Given the description of an element on the screen output the (x, y) to click on. 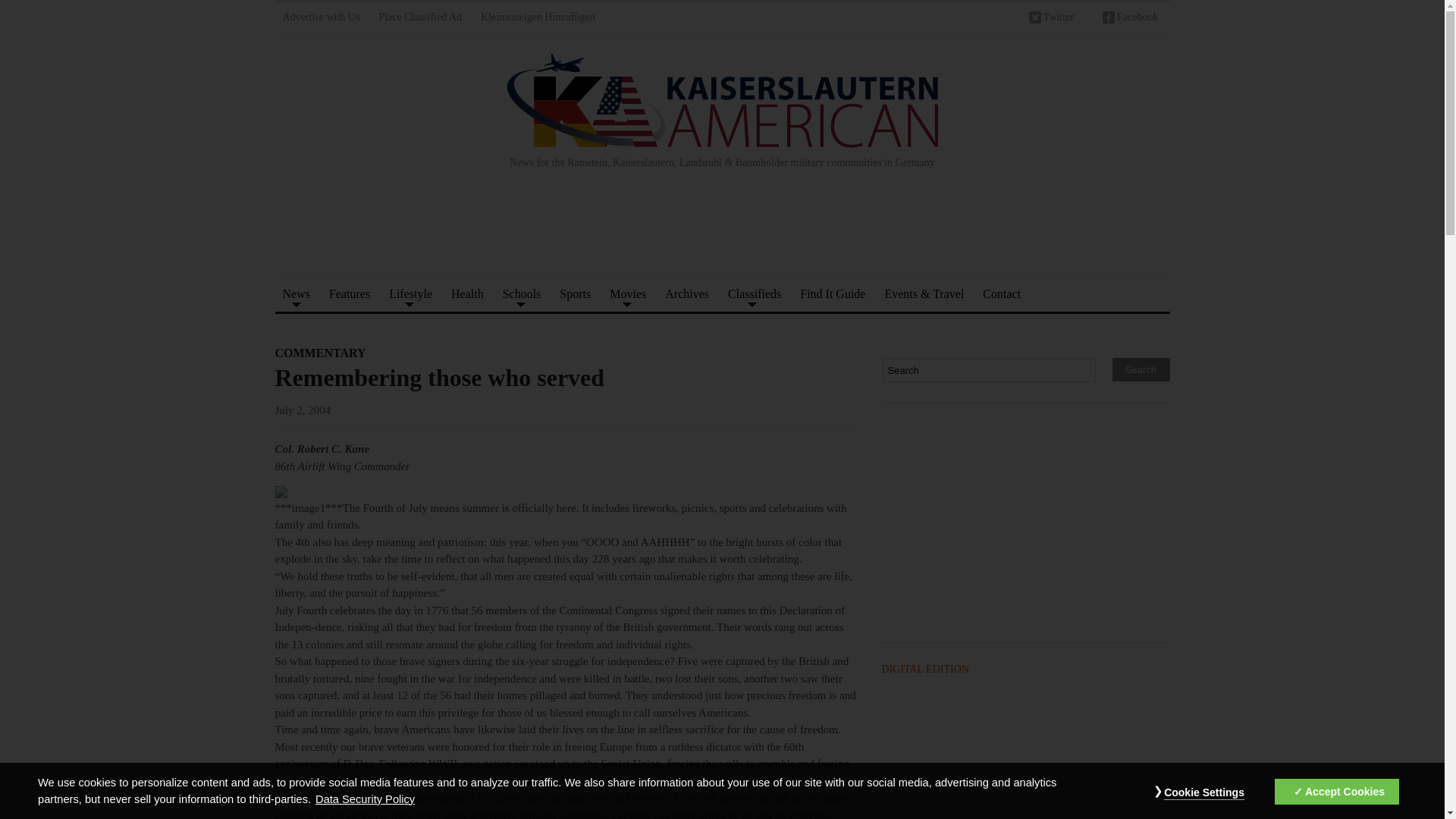
Sports (574, 294)
Health (468, 294)
Archives (687, 294)
Facebook (1130, 19)
Schools (521, 294)
News (296, 294)
Movies (627, 294)
Classifieds (754, 294)
Advertise with Us (320, 19)
Place Classified Ad (419, 19)
Twitter (1051, 19)
Things to do in Germany (410, 294)
3rd party ad content (1024, 524)
Lifestyle (410, 294)
Permalink to Remembering those who served (439, 377)
